Given the description of an element on the screen output the (x, y) to click on. 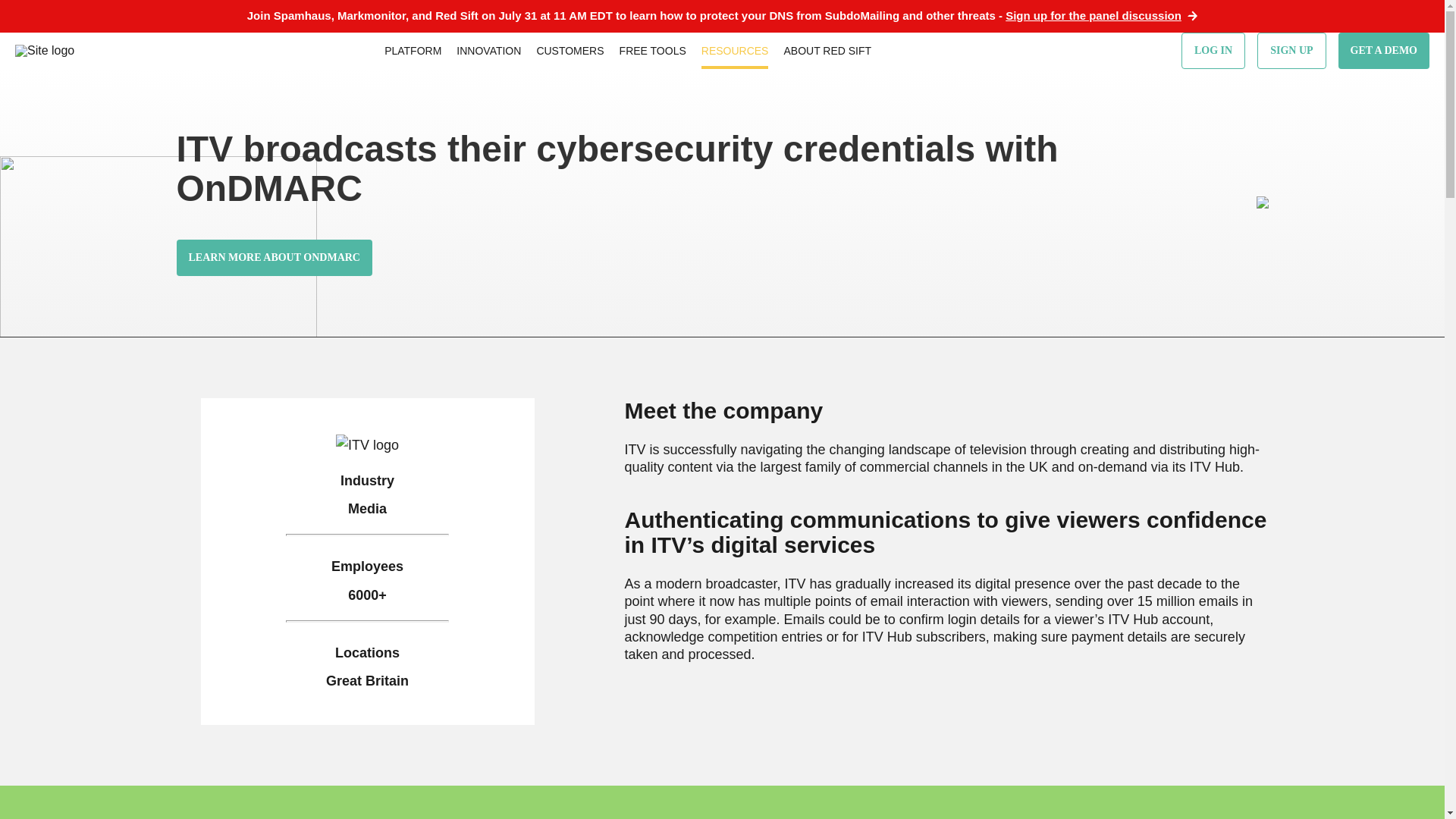
GET A DEMO (1383, 49)
SIGN UP (1290, 49)
LOG IN (1212, 49)
